Given the description of an element on the screen output the (x, y) to click on. 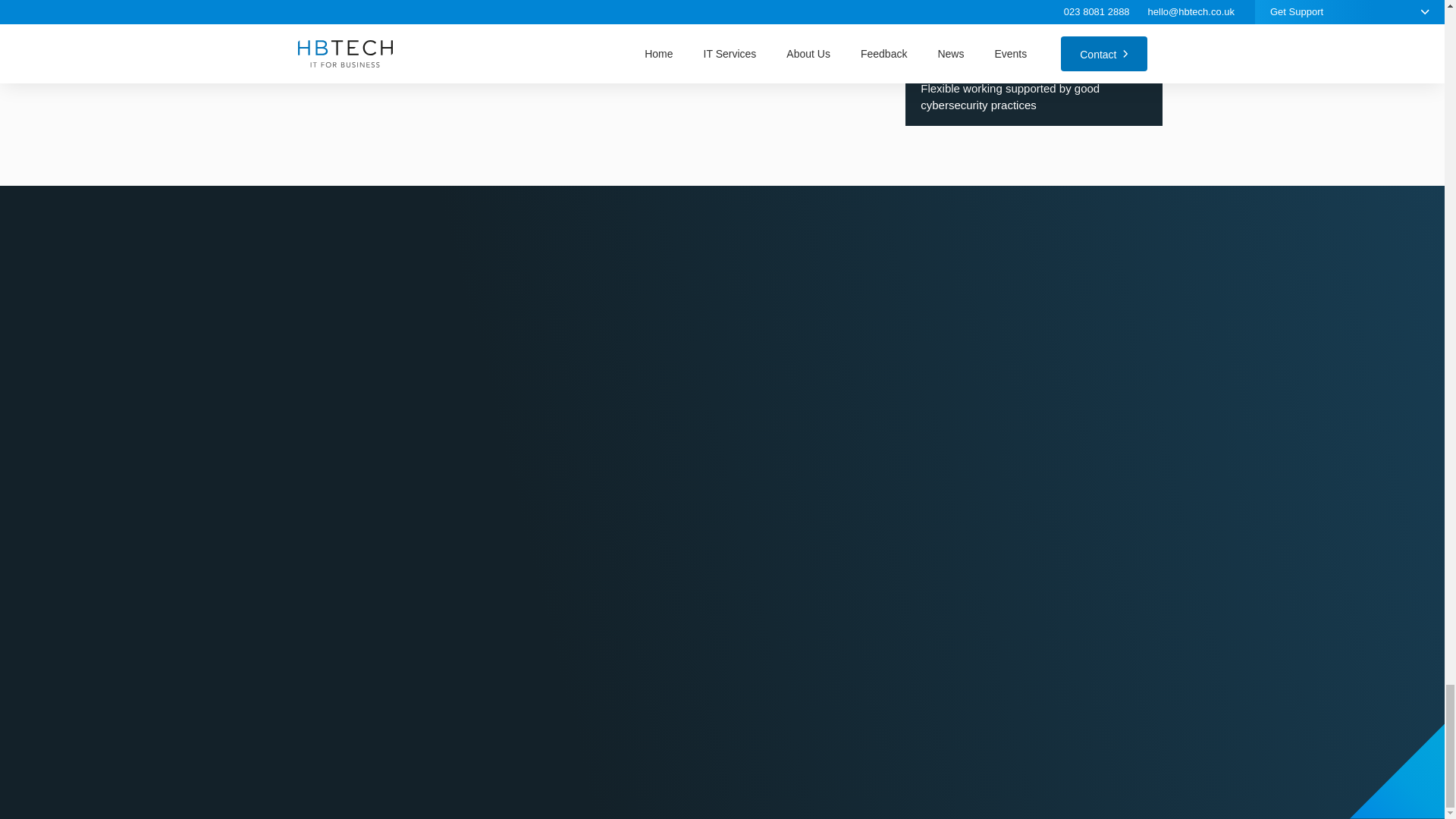
contact (726, 50)
